Given the description of an element on the screen output the (x, y) to click on. 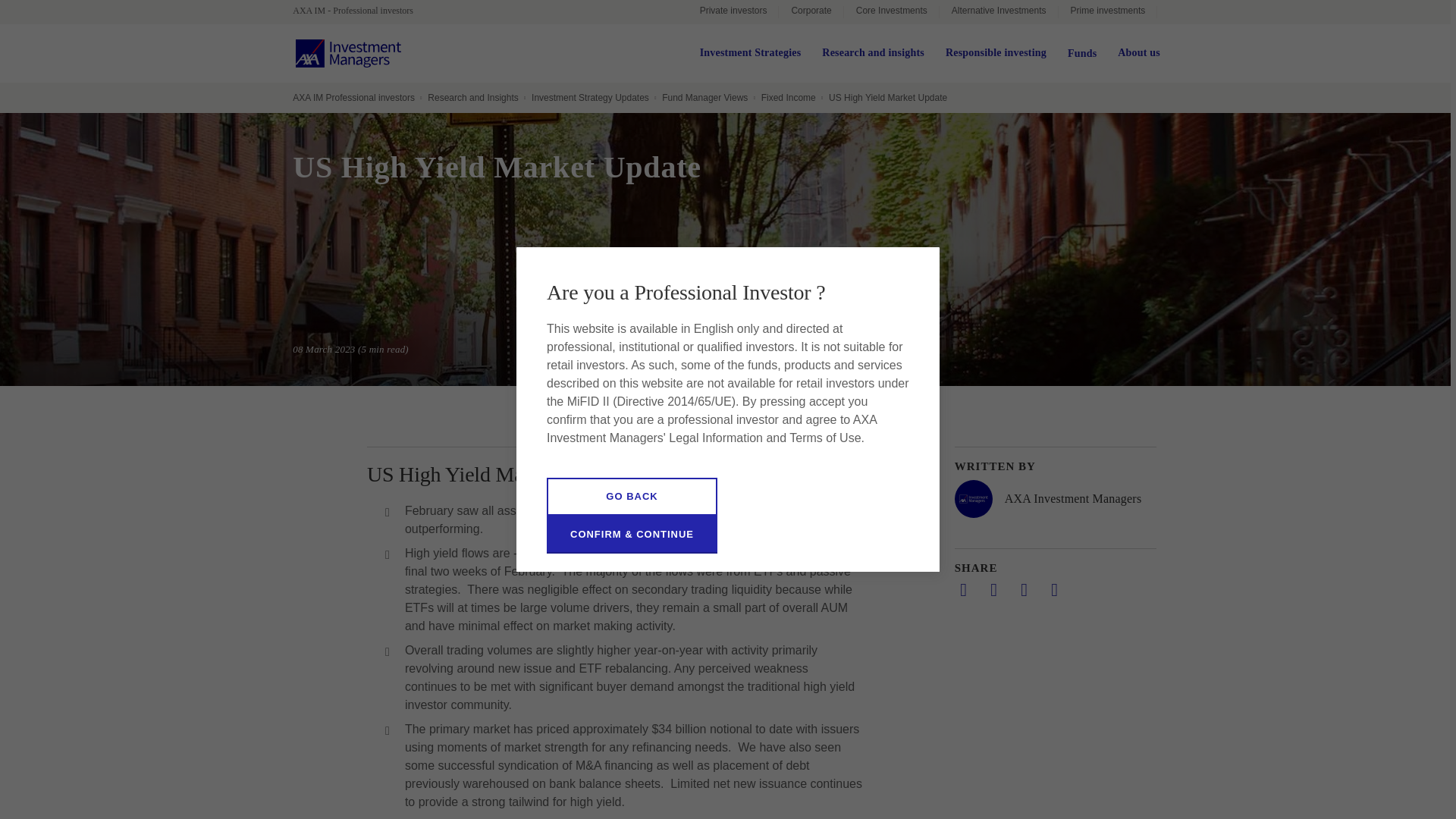
Alternative Investments (998, 12)
AXA IM - Professional investors, Home (360, 10)
Shared by mail (1023, 589)
Corporate (810, 12)
AXA IM - Professional investors (360, 10)
Copy URL (1054, 589)
Prime investments (1107, 12)
Share on twitter - New window (994, 589)
GO BACK (632, 496)
Private investors (732, 12)
